Given the description of an element on the screen output the (x, y) to click on. 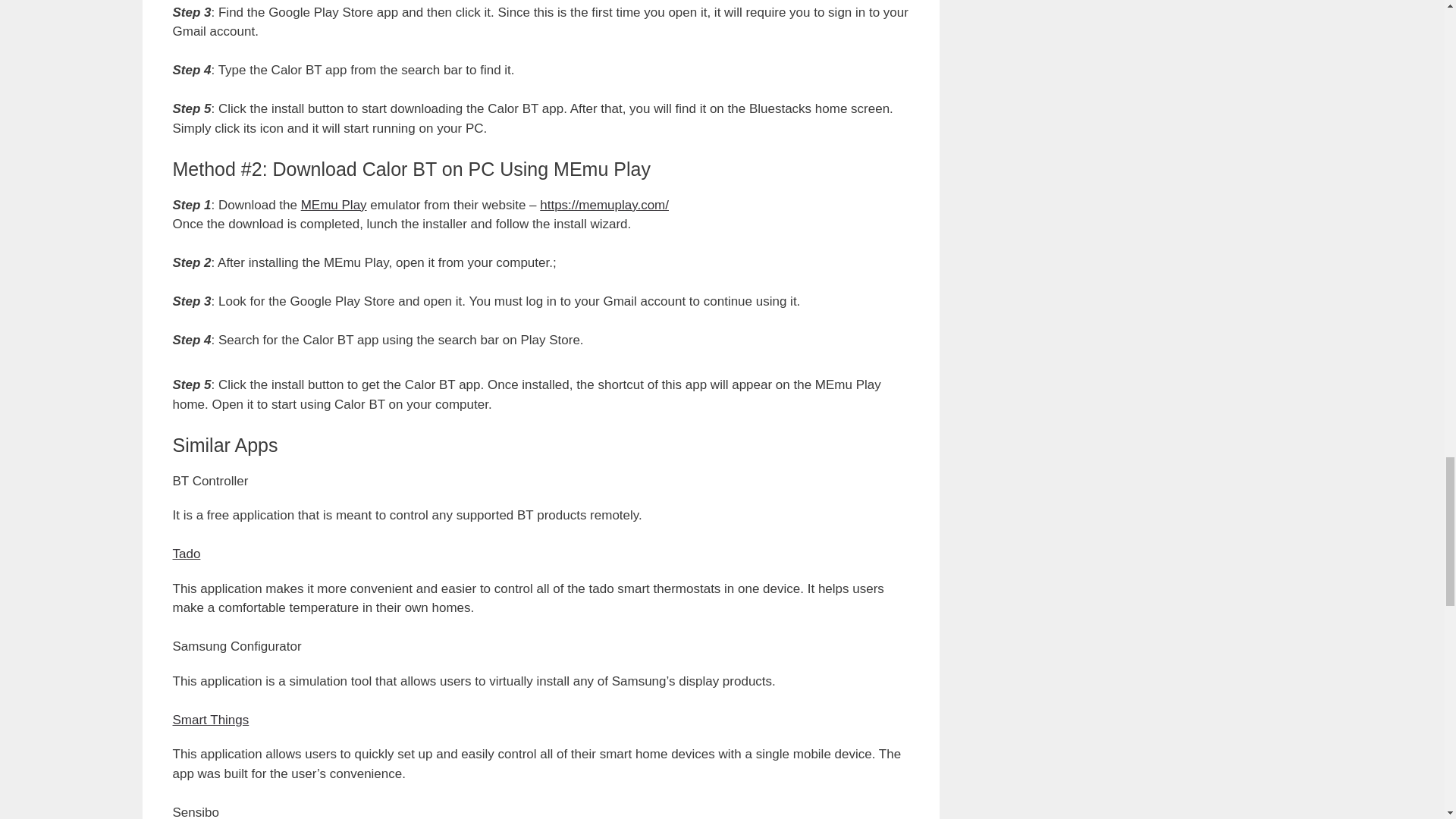
Tado (186, 554)
Smart Things (210, 719)
MEmu Play (333, 205)
